Given the description of an element on the screen output the (x, y) to click on. 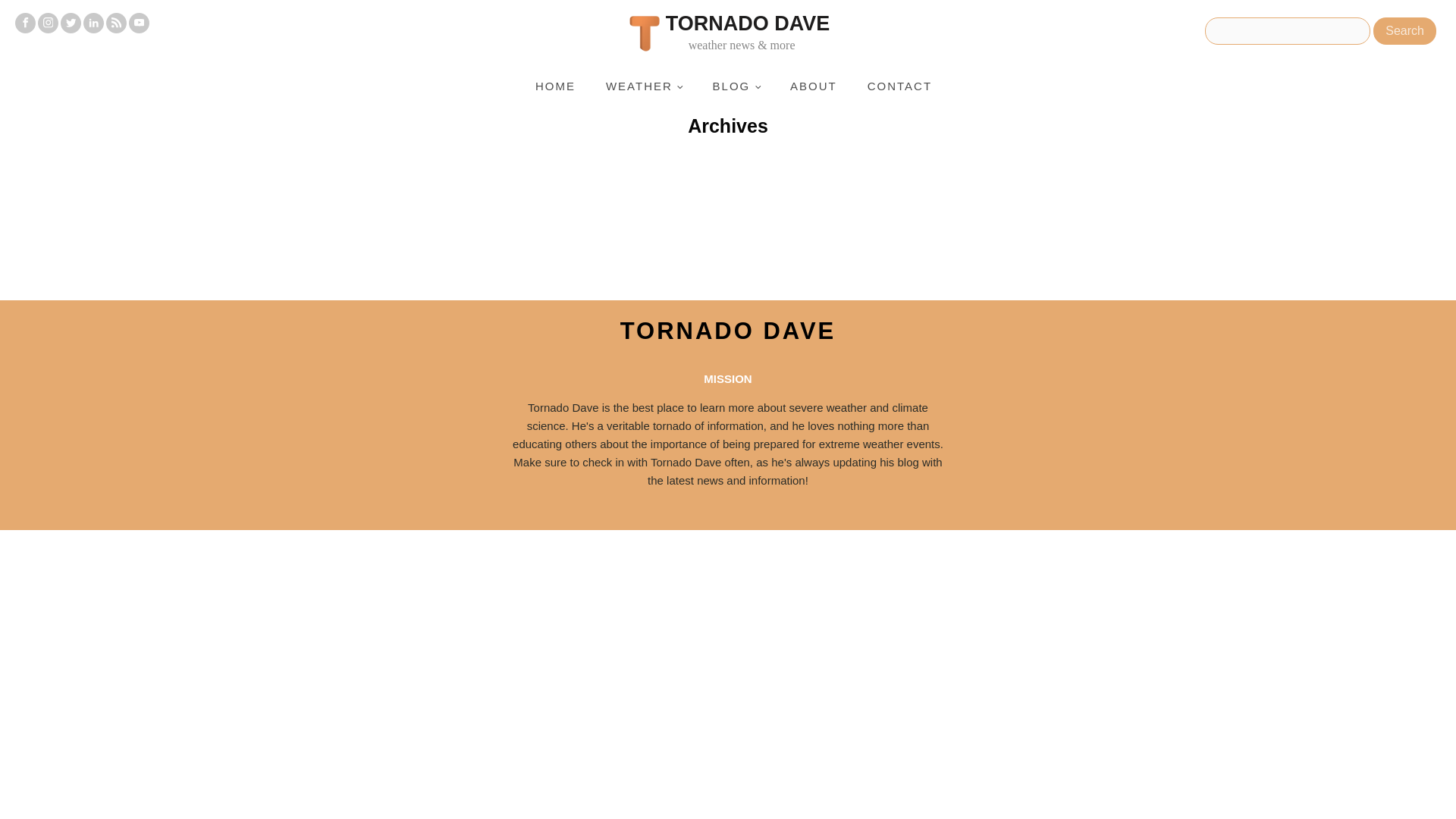
WEATHER (644, 86)
Search (1404, 31)
Search (1404, 31)
ABOUT (812, 86)
CONTACT (899, 86)
BLOG (735, 86)
TORNADO DAVE (727, 330)
HOME (555, 86)
